Given the description of an element on the screen output the (x, y) to click on. 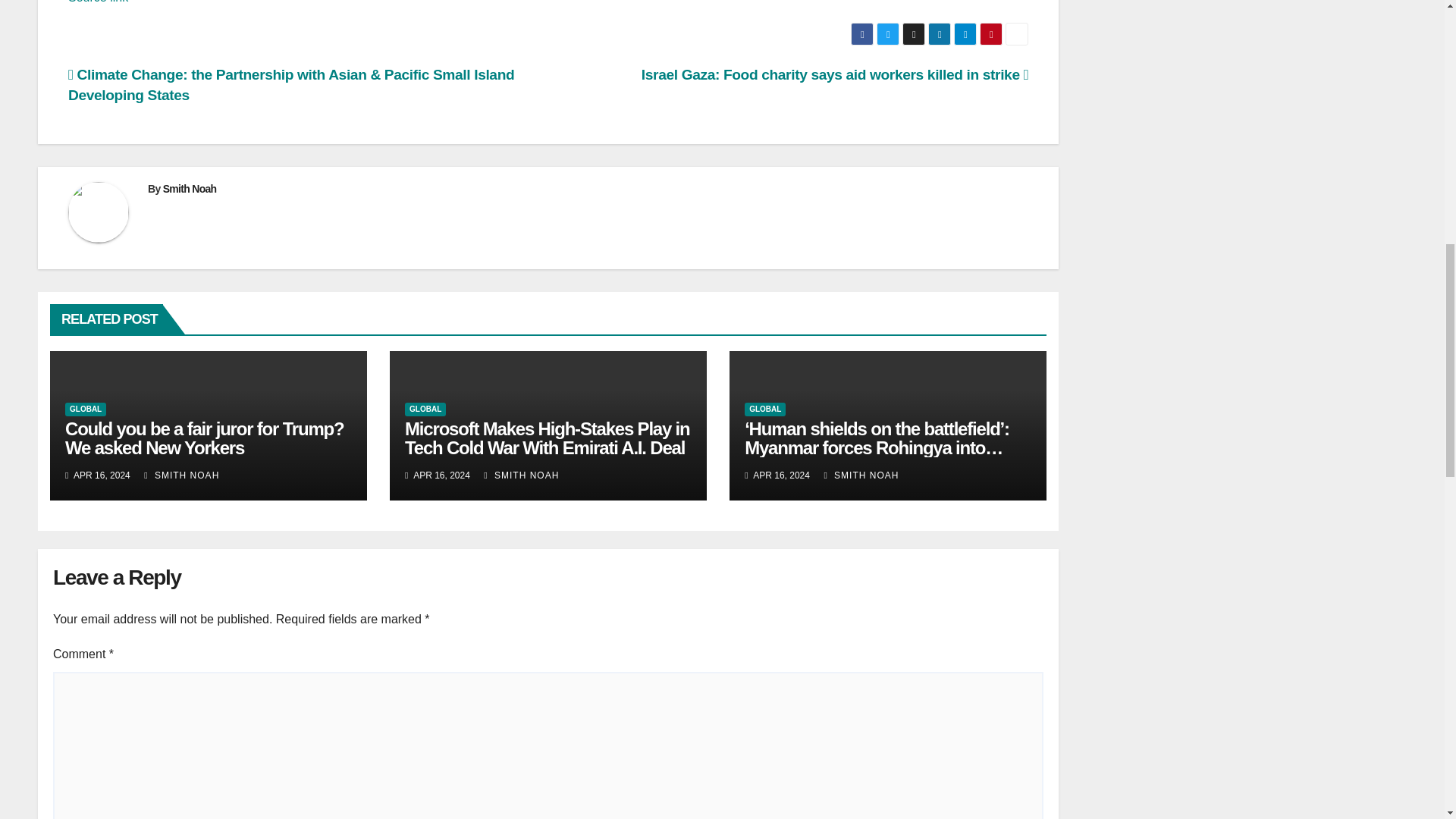
Israel Gaza: Food charity says aid workers killed in strike (834, 74)
Could you be a fair juror for Trump? We asked New Yorkers (204, 437)
Source link (98, 2)
GLOBAL (765, 409)
GLOBAL (424, 409)
SMITH NOAH (181, 475)
SMITH NOAH (521, 475)
GLOBAL (85, 409)
